Given the description of an element on the screen output the (x, y) to click on. 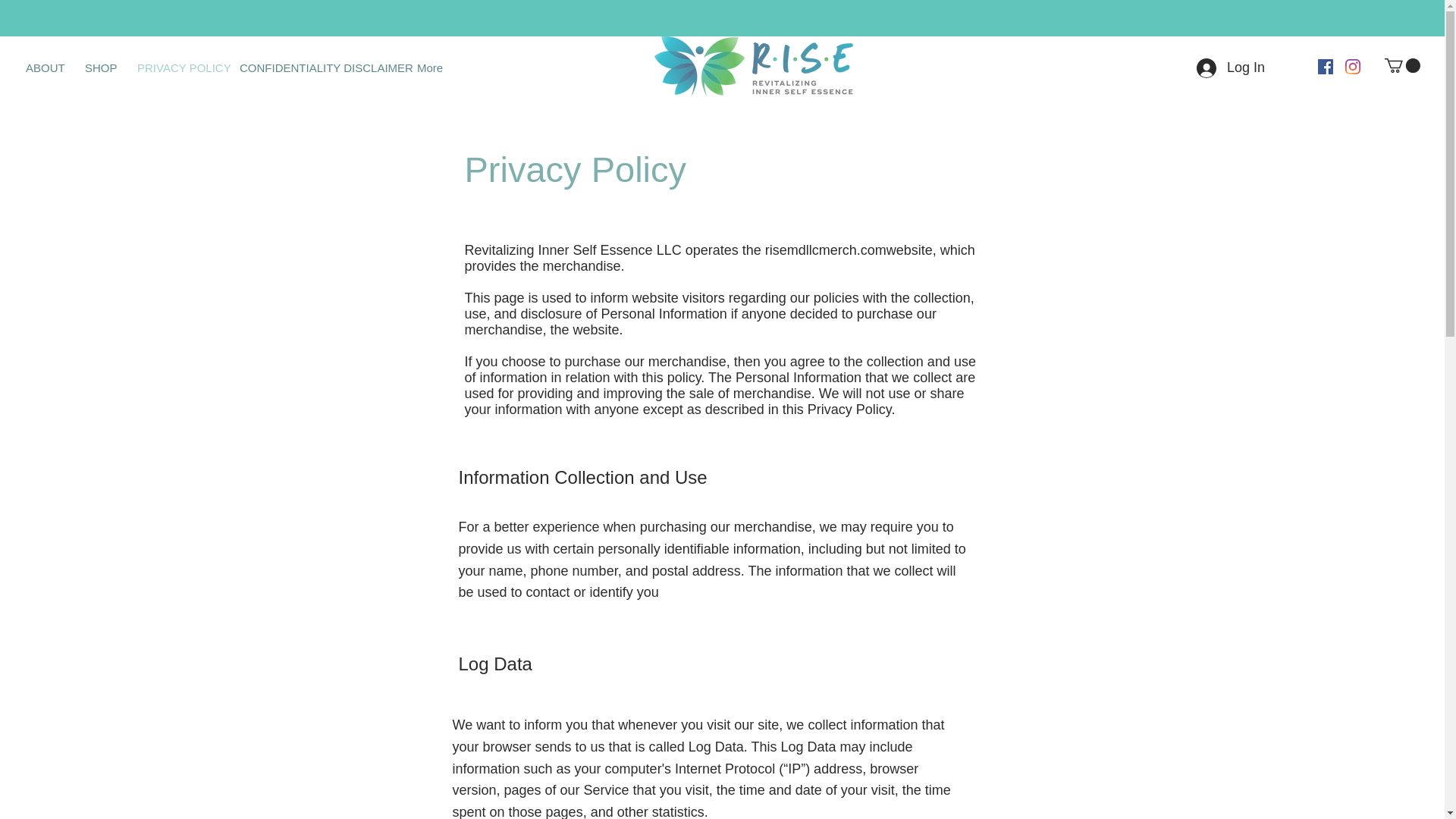
CONFIDENTIALITY DISCLAIMER (317, 67)
PRIVACY POLICY (176, 67)
rise horizontal - transparent.png (752, 66)
SHOP (99, 67)
Log In (1230, 68)
ABOUT (44, 67)
